Given the description of an element on the screen output the (x, y) to click on. 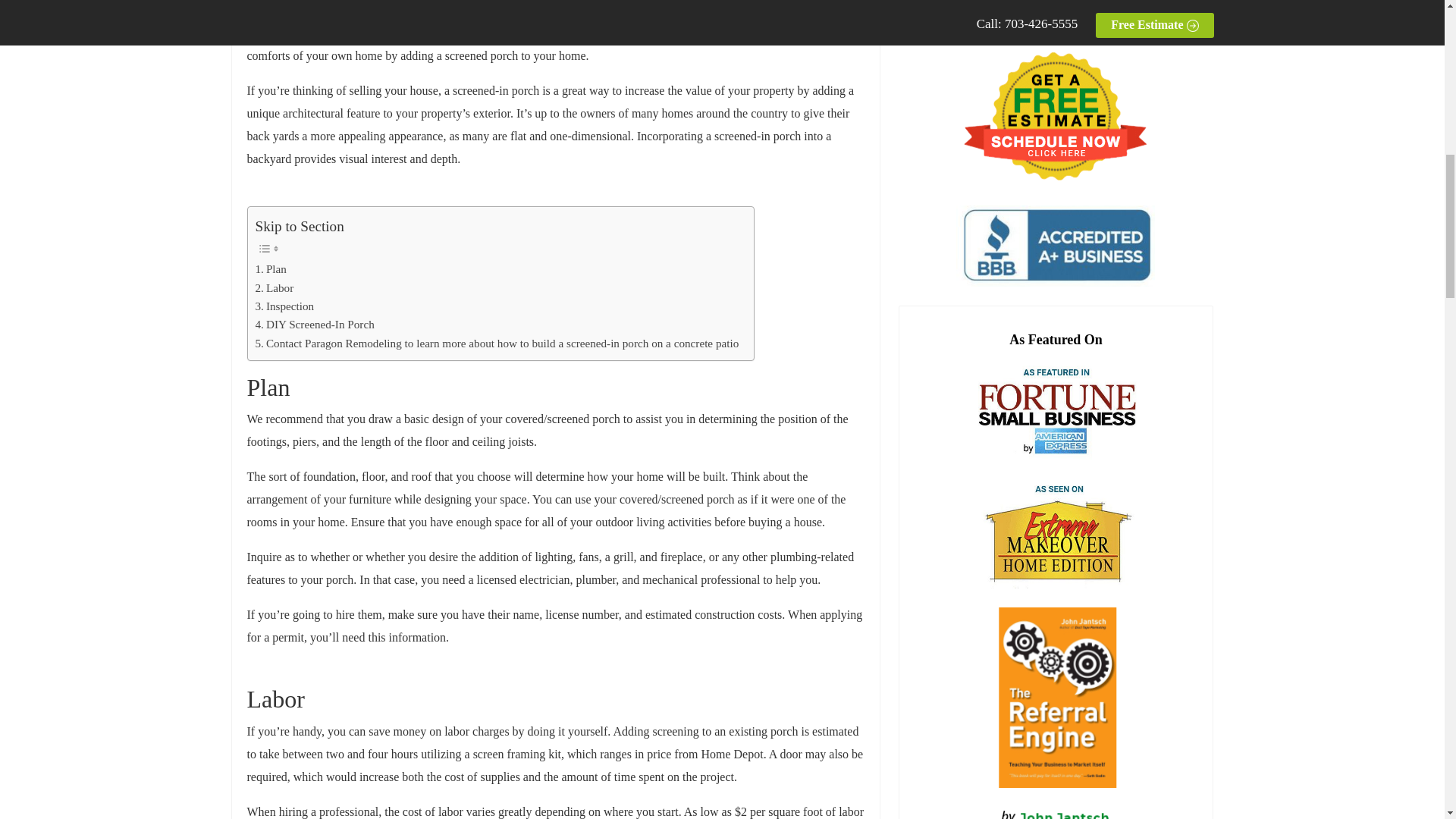
Labor (274, 288)
DIY Screened-In Porch (314, 324)
Inspection (284, 306)
Plan (269, 269)
Plan (269, 269)
DIY Screened-In Porch (314, 324)
Inspection (284, 306)
Labor (274, 288)
